Given the description of an element on the screen output the (x, y) to click on. 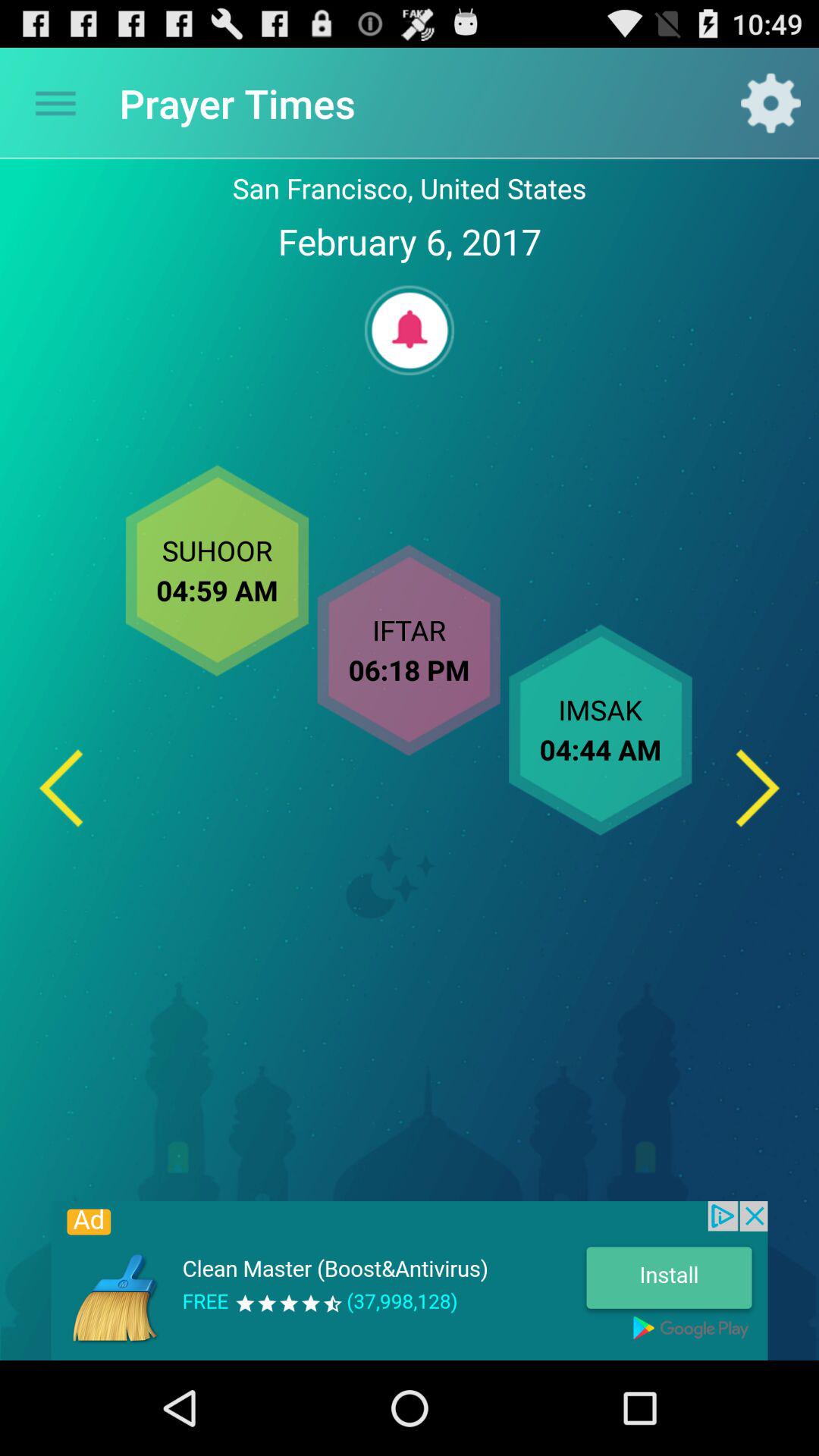
forward (757, 787)
